Given the description of an element on the screen output the (x, y) to click on. 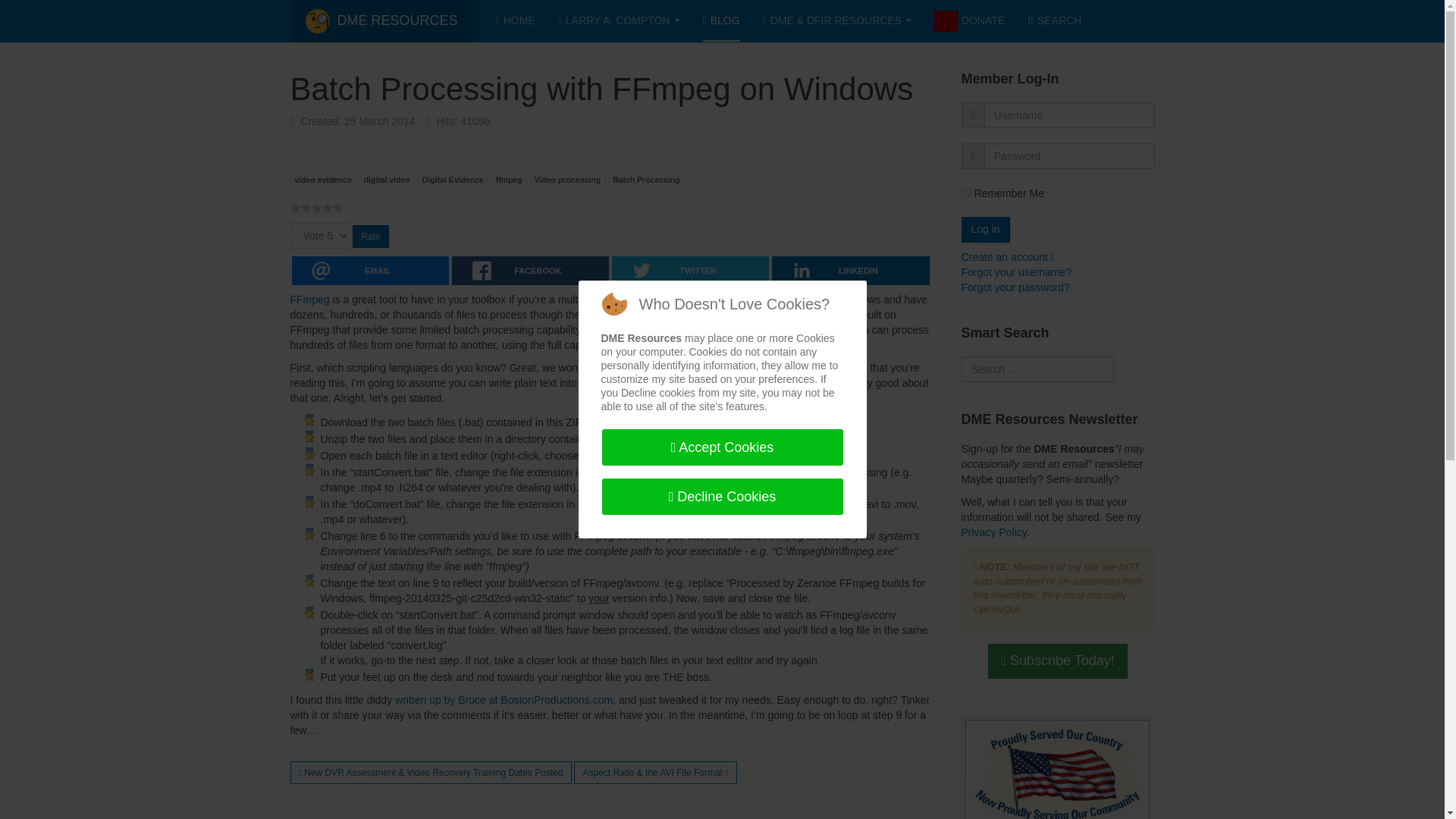
Rate (370, 236)
Log in (985, 229)
yes (965, 192)
DME Resources (380, 20)
LARRY A. COMPTON (618, 20)
BLOG (720, 20)
HOME (515, 20)
DME RESOURCES (380, 20)
